Given the description of an element on the screen output the (x, y) to click on. 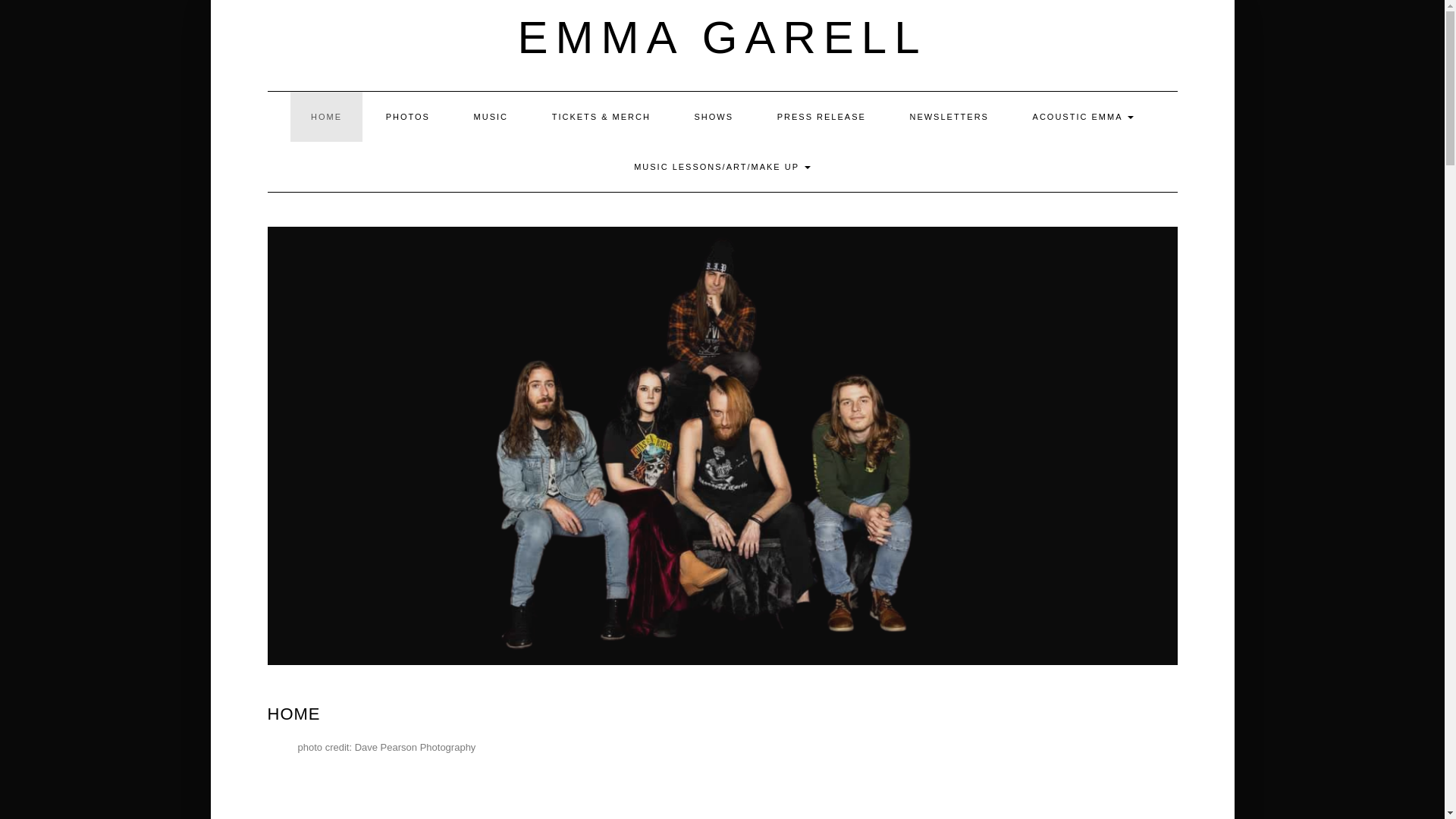
ACOUSTIC EMMA (1082, 116)
HOME (325, 116)
PRESS RELEASE (821, 116)
PHOTOS (407, 116)
NEWSLETTERS (948, 116)
EMMA GARELL (721, 37)
SHOWS (714, 116)
MUSIC (490, 116)
